Given the description of an element on the screen output the (x, y) to click on. 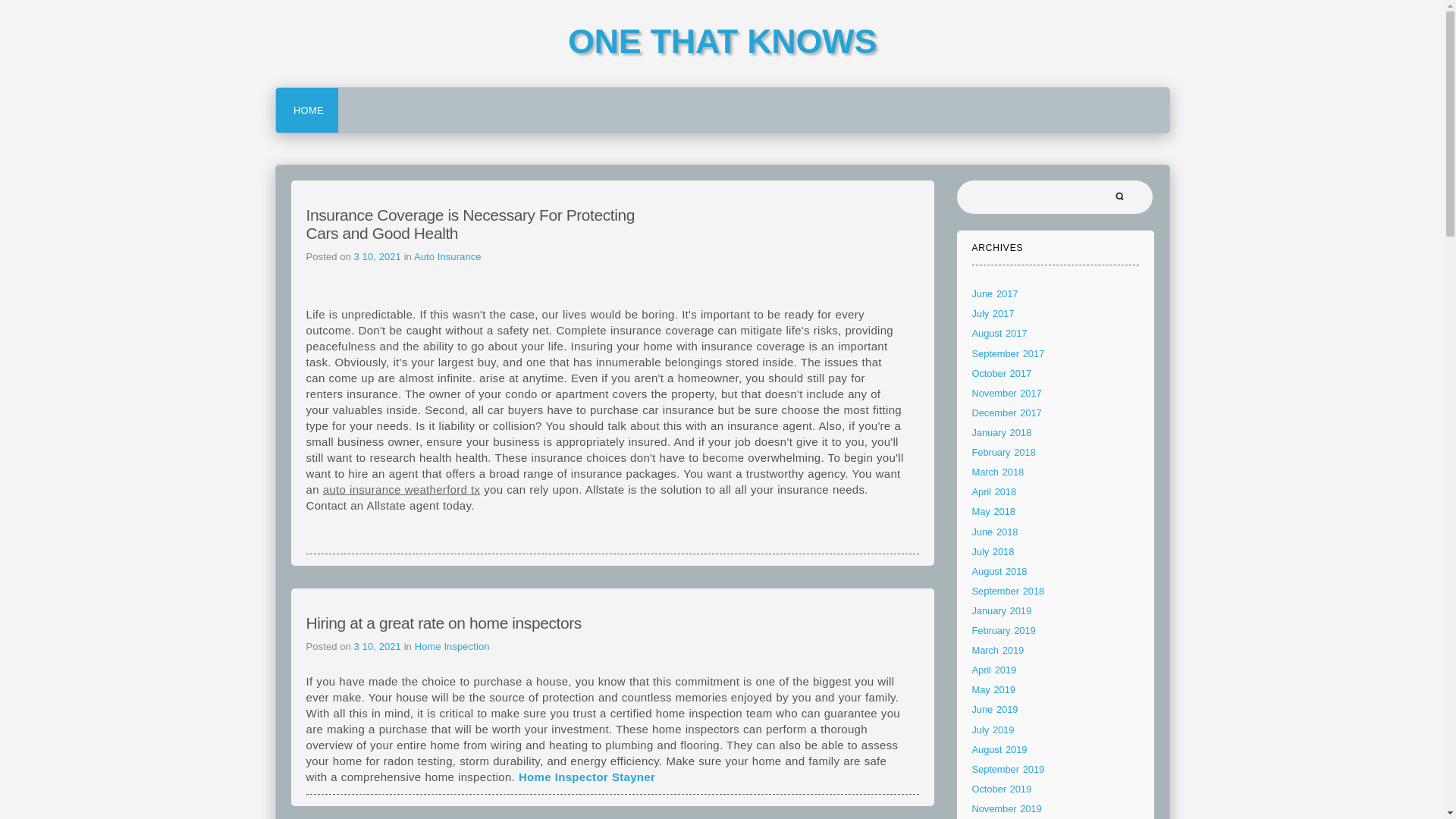
HOME (307, 109)
February 2018 (1003, 451)
View all posts in Home Inspection (451, 645)
June 2017 (994, 293)
ONE THAT KNOWS (721, 41)
Home Inspector Stayner (586, 776)
Hiring at a great rate on home inspectors (442, 622)
October 2017 (1002, 373)
View all posts in Auto Insurance (447, 256)
Auto Insurance (447, 256)
3 10, 2021  (378, 256)
December 2017 (1007, 412)
January 2018 (1002, 432)
Home Inspection (451, 645)
auto insurance weatherford tx (401, 489)
